Given the description of an element on the screen output the (x, y) to click on. 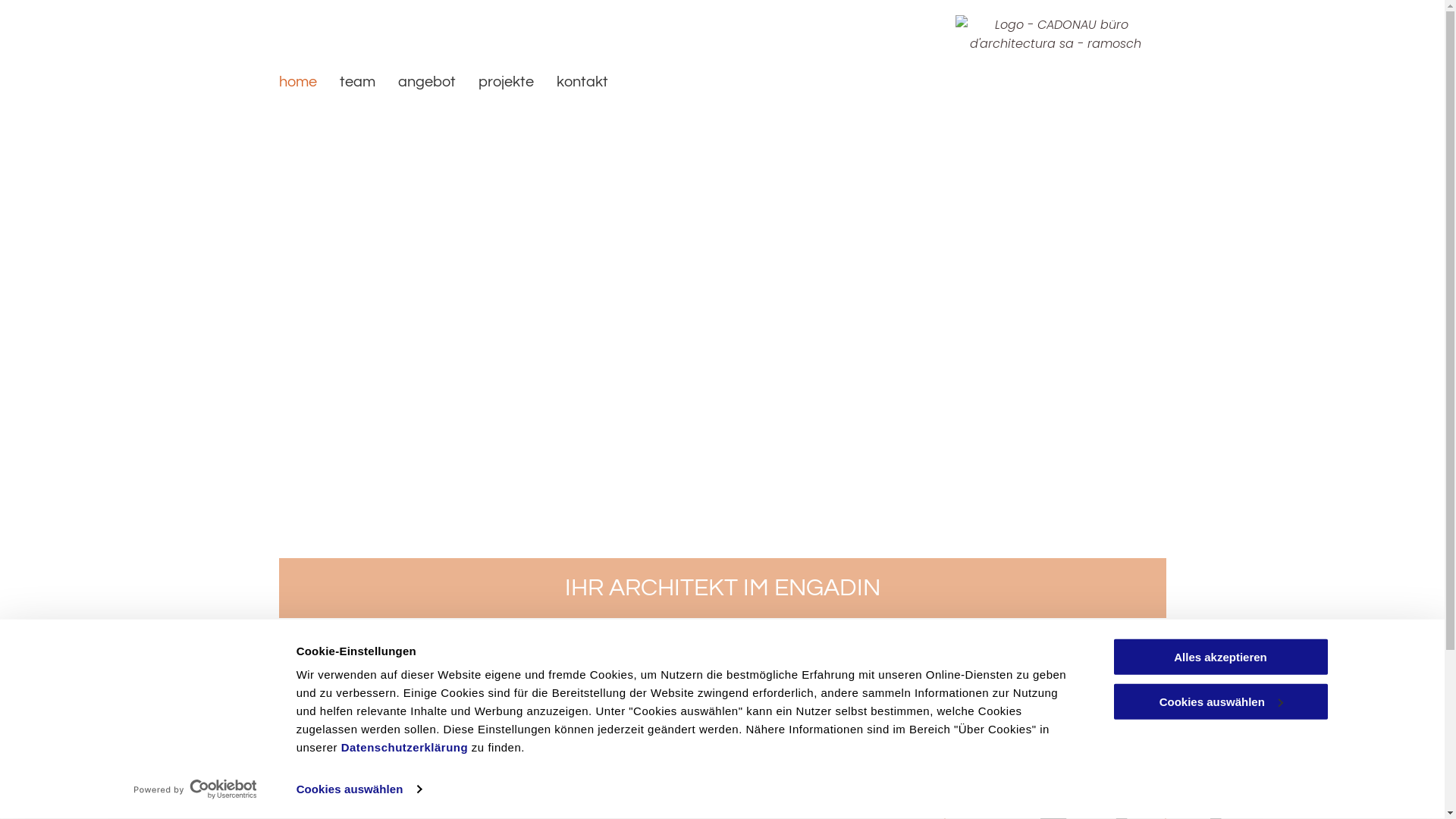
kontakt Element type: text (581, 81)
home Element type: text (296, 81)
angebot Element type: text (426, 81)
projekte Element type: text (506, 81)
Alles akzeptieren Element type: text (1219, 656)
team Element type: text (356, 81)
